Given the description of an element on the screen output the (x, y) to click on. 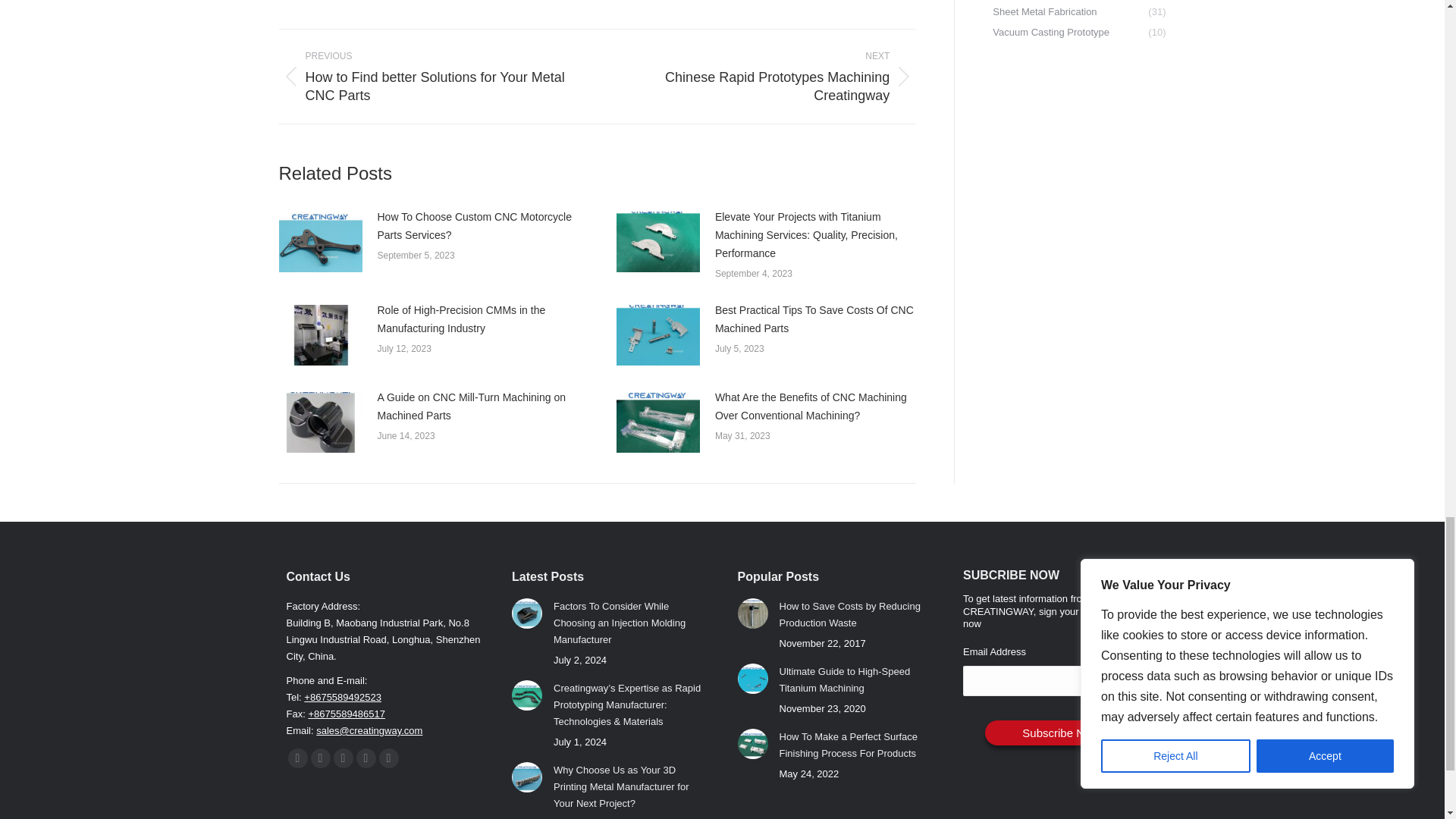
Subscribe Now (1061, 732)
